Given the description of an element on the screen output the (x, y) to click on. 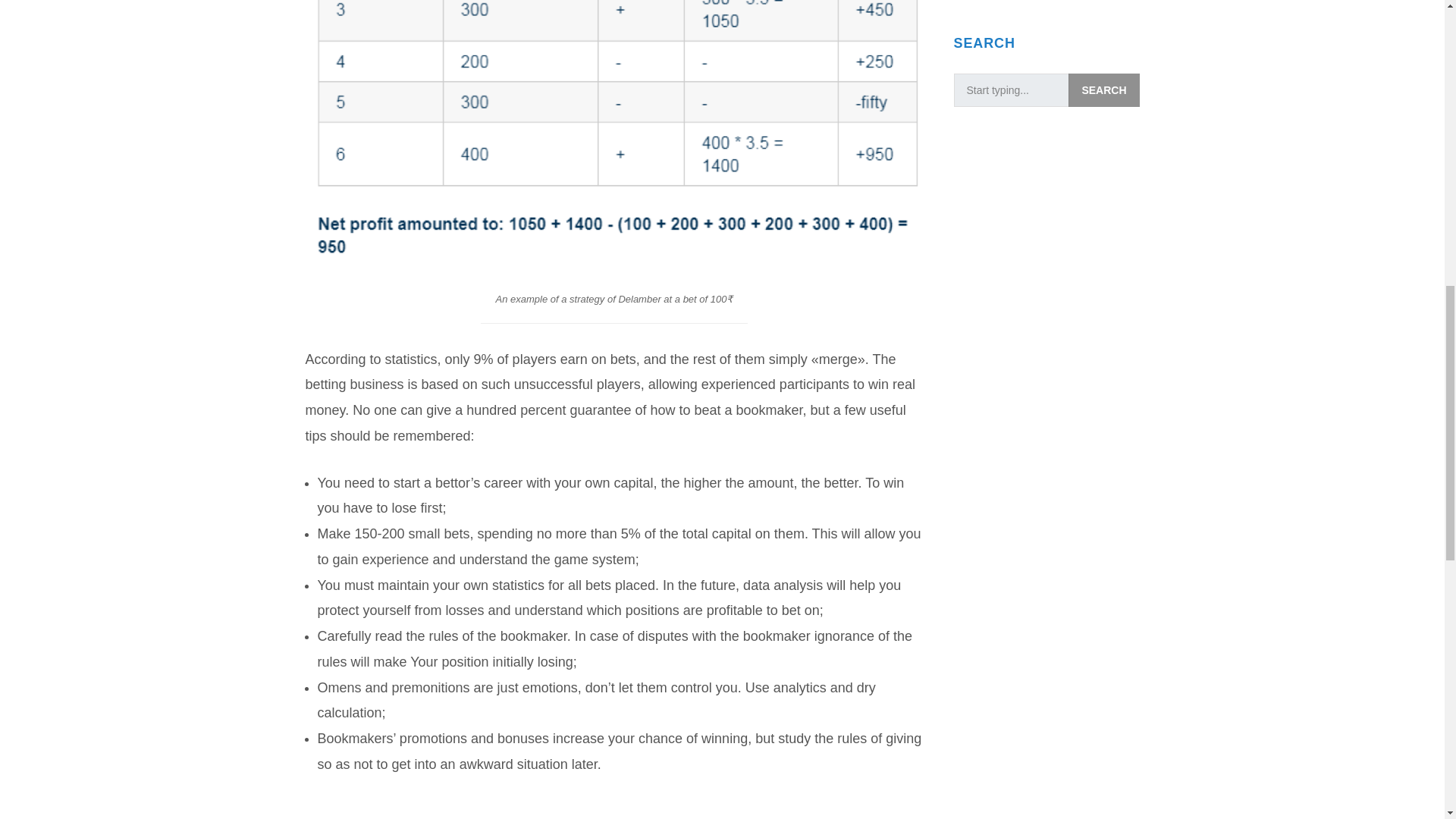
Search (1103, 89)
Search (1103, 89)
